Given the description of an element on the screen output the (x, y) to click on. 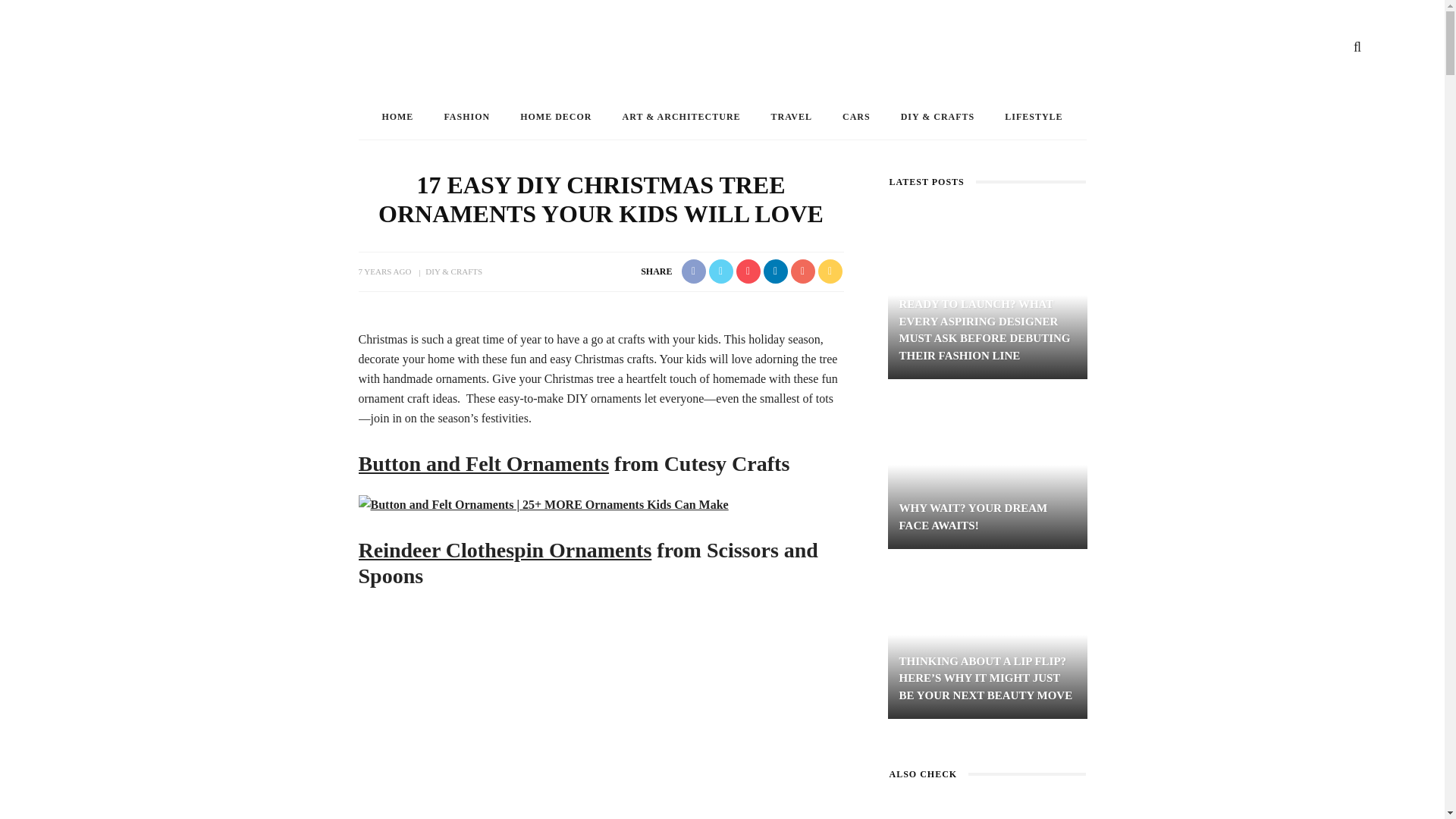
search (1356, 47)
Reindeer Clothespin Ornaments (504, 549)
Button and Felt Ornaments (483, 463)
FASHION (466, 116)
CARS (856, 116)
HOME DECOR (556, 116)
TRAVEL (791, 116)
HOME (397, 116)
LIFESTYLE (1033, 116)
